Given the description of an element on the screen output the (x, y) to click on. 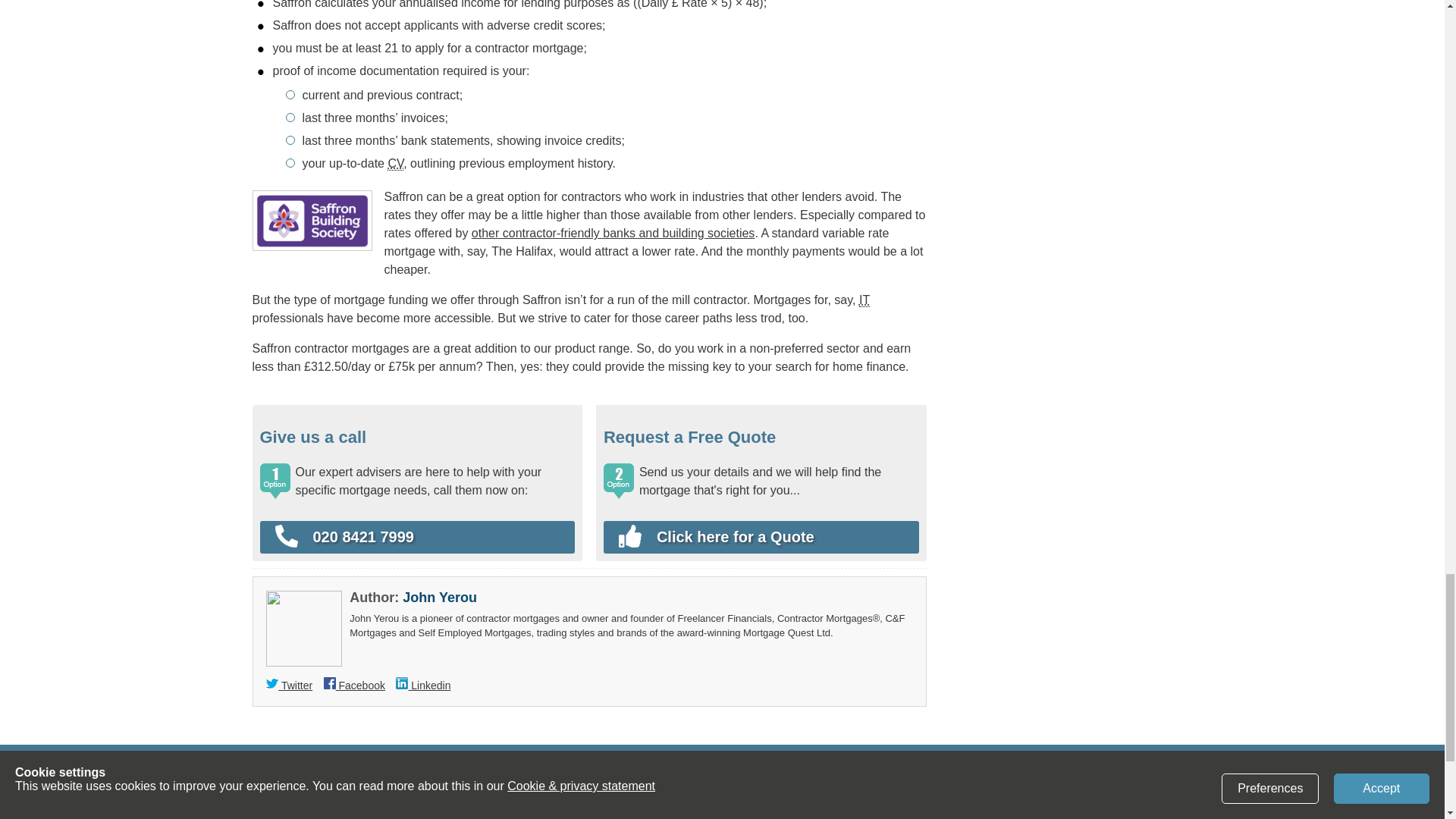
Facebook (354, 685)
020 8421 7999 (417, 536)
Call us: 02084217999 (417, 536)
Click here for a Quote (754, 537)
Twitter (289, 685)
other contractor-friendly banks and building societies (613, 232)
Who Are The Best Contractor Mortgage Lenders? (613, 232)
Linkedin (422, 685)
Curriculum Vitae (395, 163)
John Yerou (440, 597)
